Given the description of an element on the screen output the (x, y) to click on. 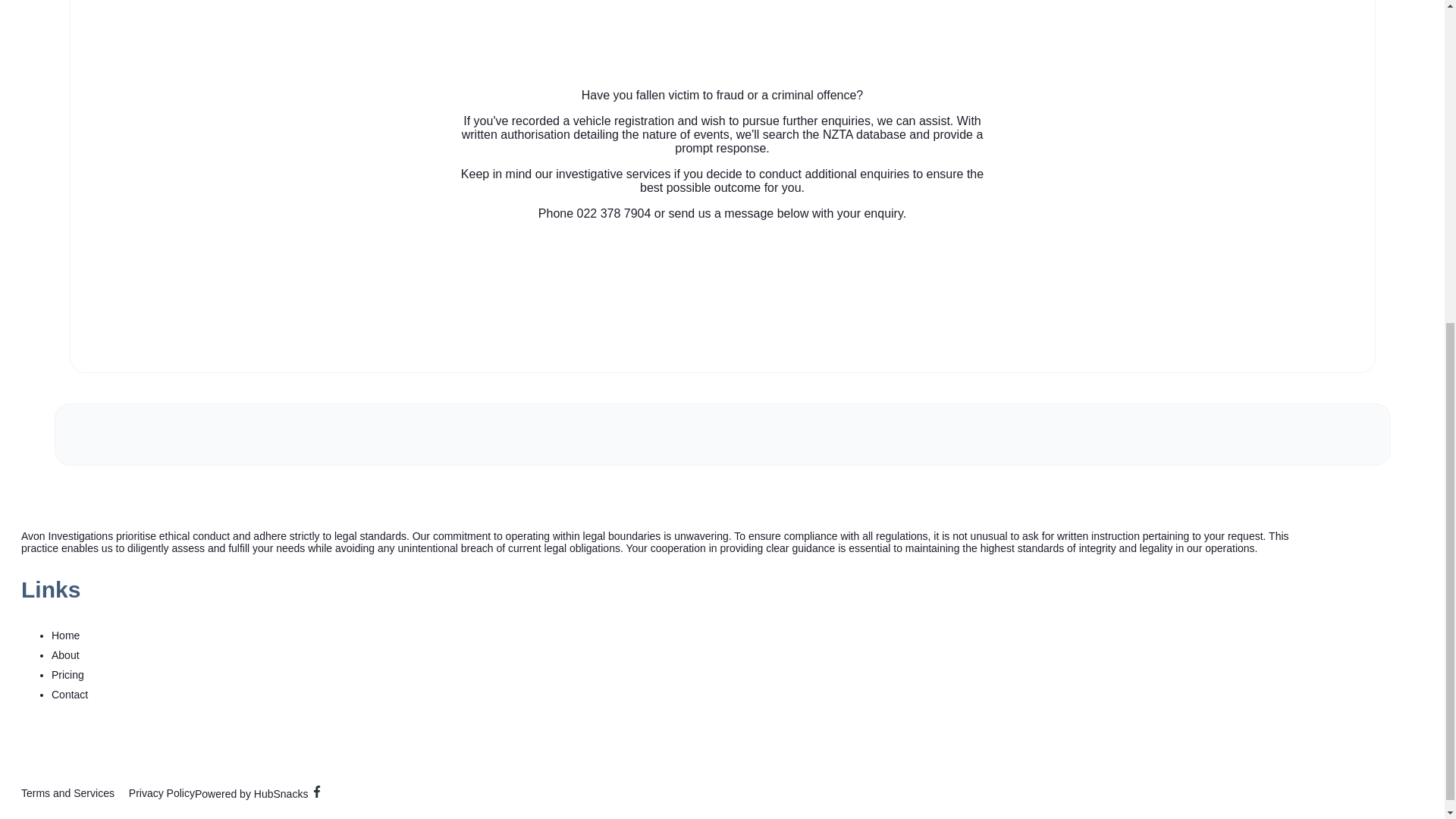
Follow us on Facebook (317, 793)
Pricing (67, 674)
Contact (68, 694)
About (65, 655)
Terms and Services (68, 793)
Home (65, 635)
Follow us on Facebook (317, 791)
Privacy Policy (162, 793)
